Given the description of an element on the screen output the (x, y) to click on. 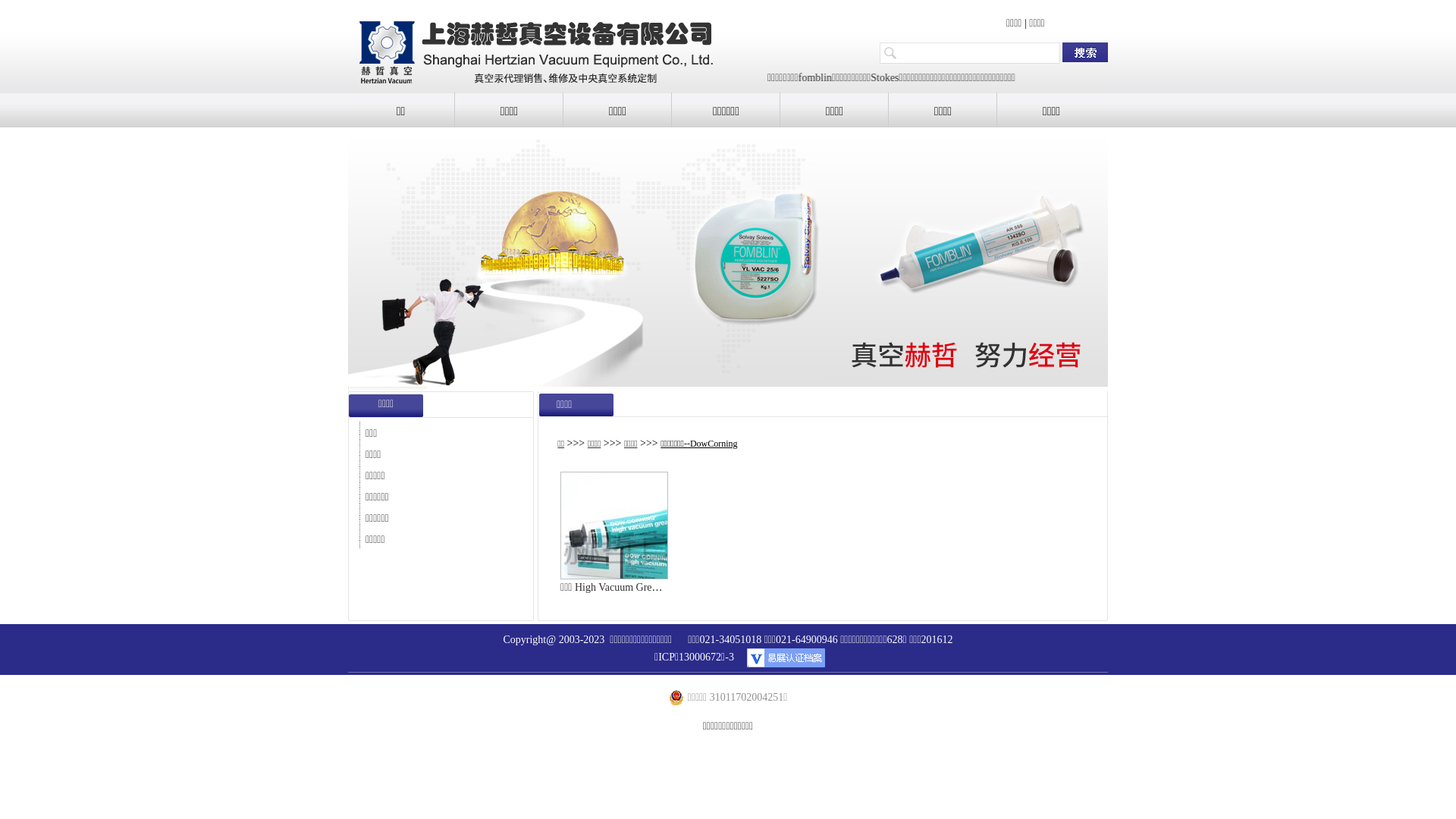
11111 Element type: hover (727, 258)
